Given the description of an element on the screen output the (x, y) to click on. 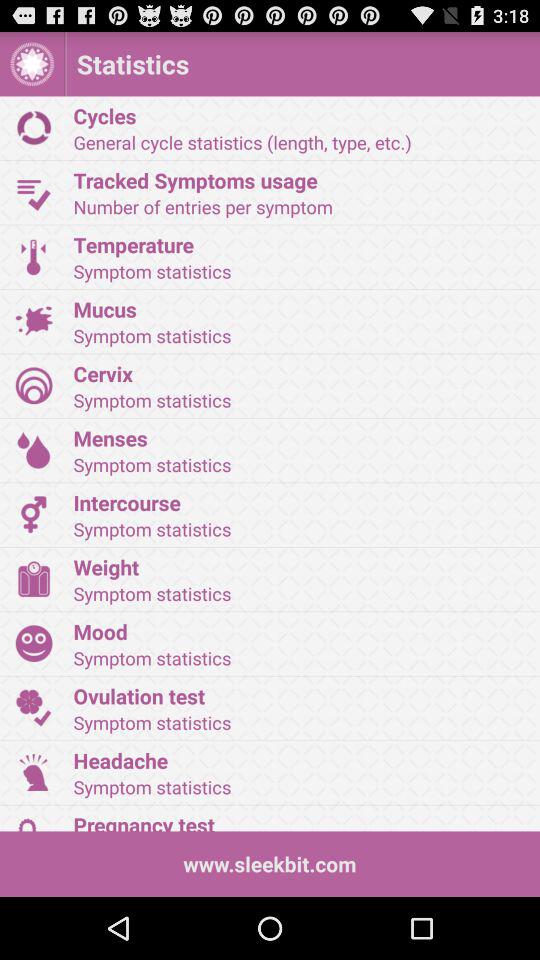
icon below cycles option (34, 191)
select the icon of cervix (34, 385)
